Given the description of an element on the screen output the (x, y) to click on. 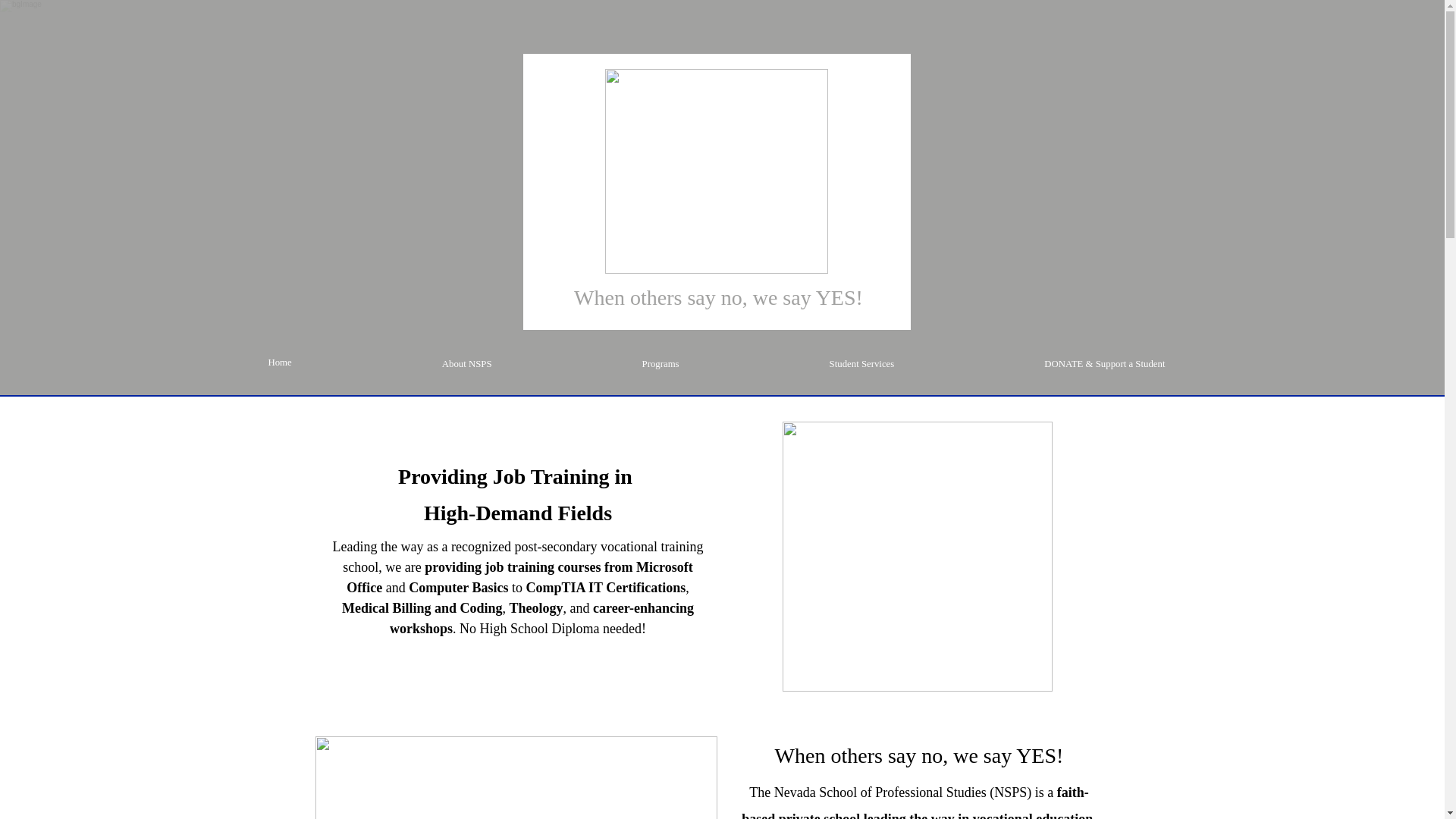
Student Services (861, 364)
About NSPS (466, 364)
Programs (660, 364)
Home (279, 362)
